Given the description of an element on the screen output the (x, y) to click on. 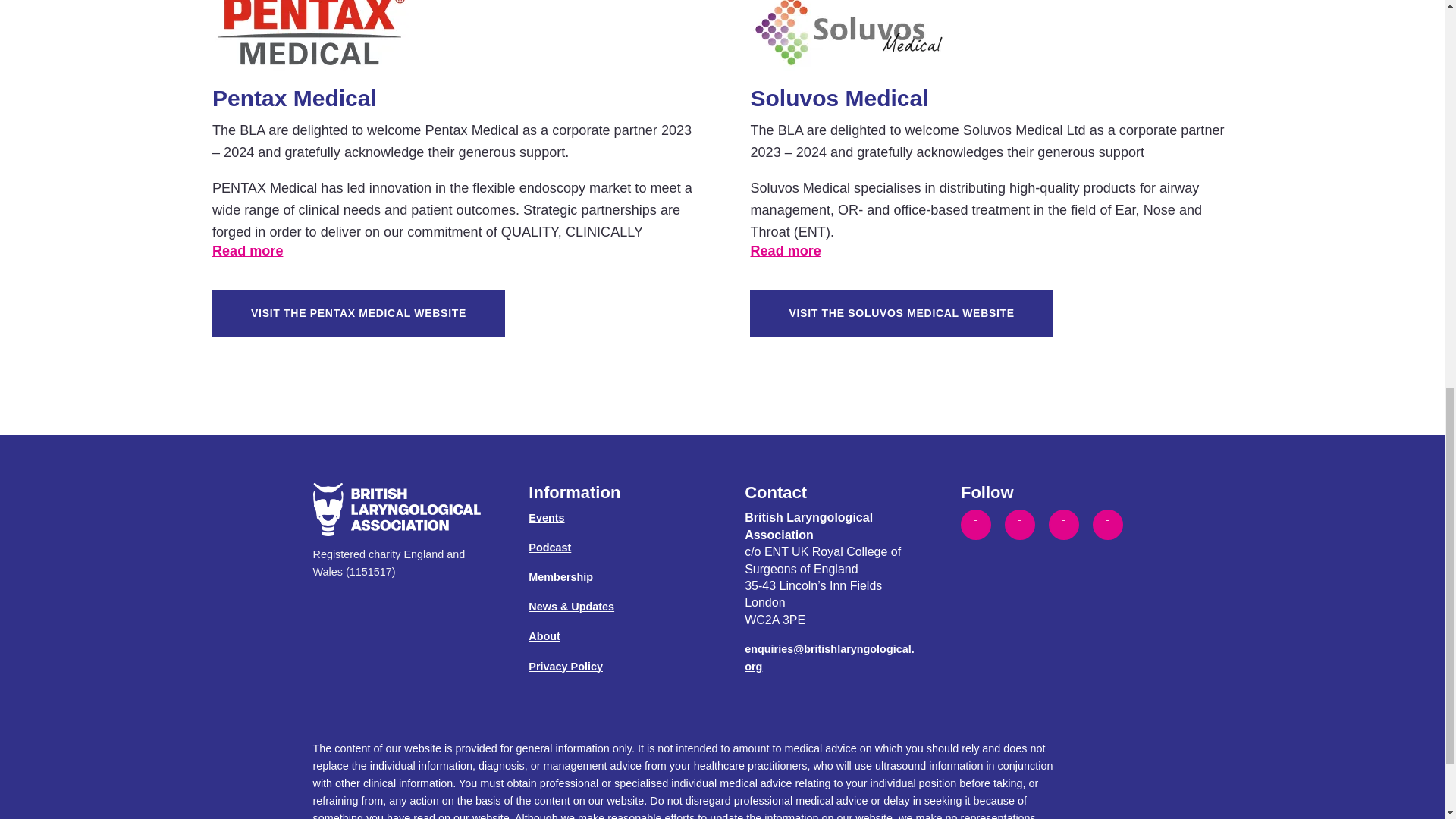
Pentax Medical (311, 39)
Follow on Facebook (1019, 524)
Soluvos Medical (848, 39)
BLA Logo White Small (398, 509)
Follow on X (1063, 524)
Follow on LinkedIn (975, 524)
Follow on Instagram (1107, 524)
